Given the description of an element on the screen output the (x, y) to click on. 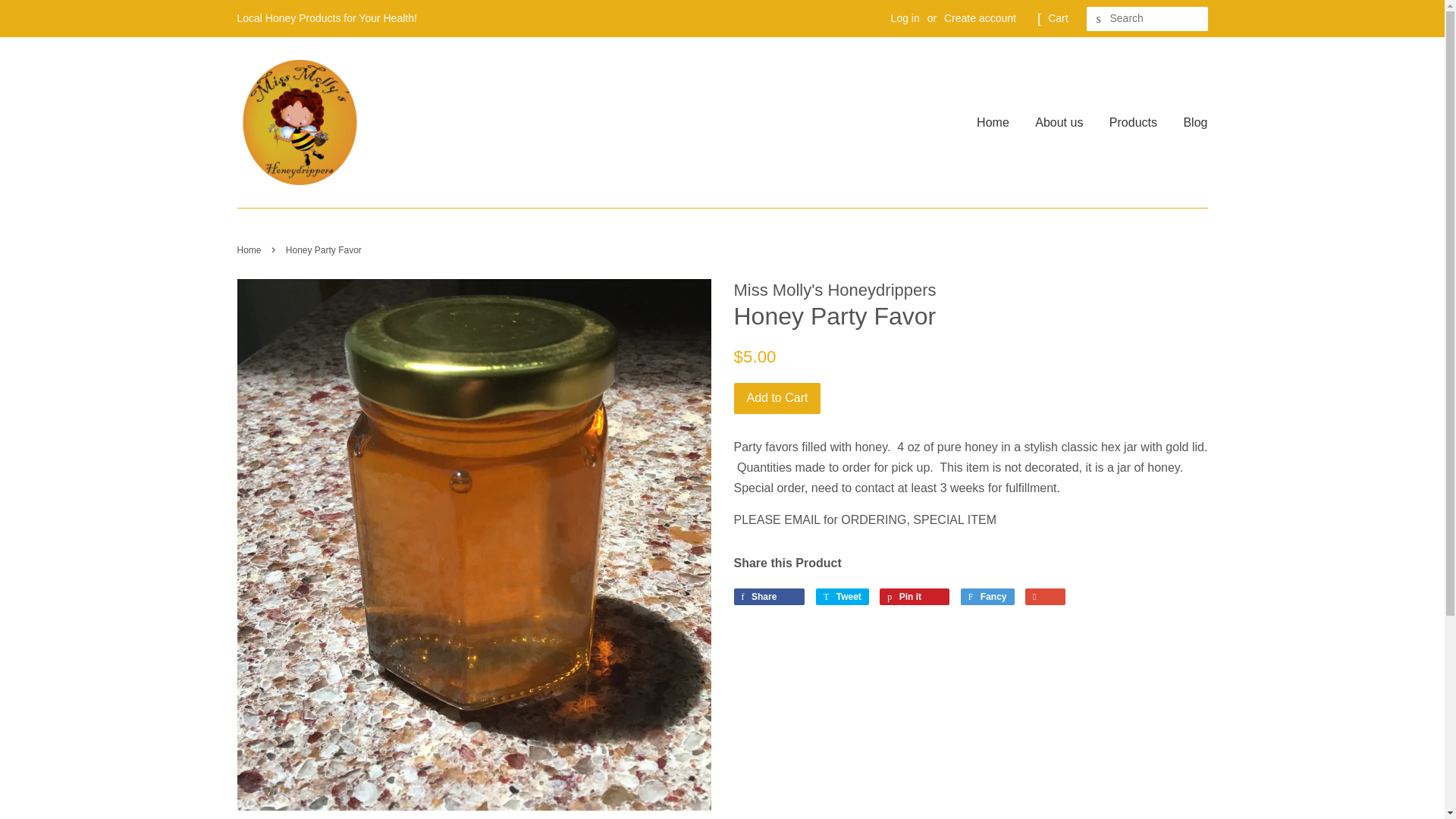
Search (1097, 18)
Products (1133, 122)
Home (249, 249)
Home (998, 122)
Create account (987, 596)
Back to the frontpage (979, 18)
About us (842, 596)
Pin on Pinterest (249, 249)
Log in (1058, 122)
Add to Cart (914, 596)
Tweet on Twitter (905, 18)
